Given the description of an element on the screen output the (x, y) to click on. 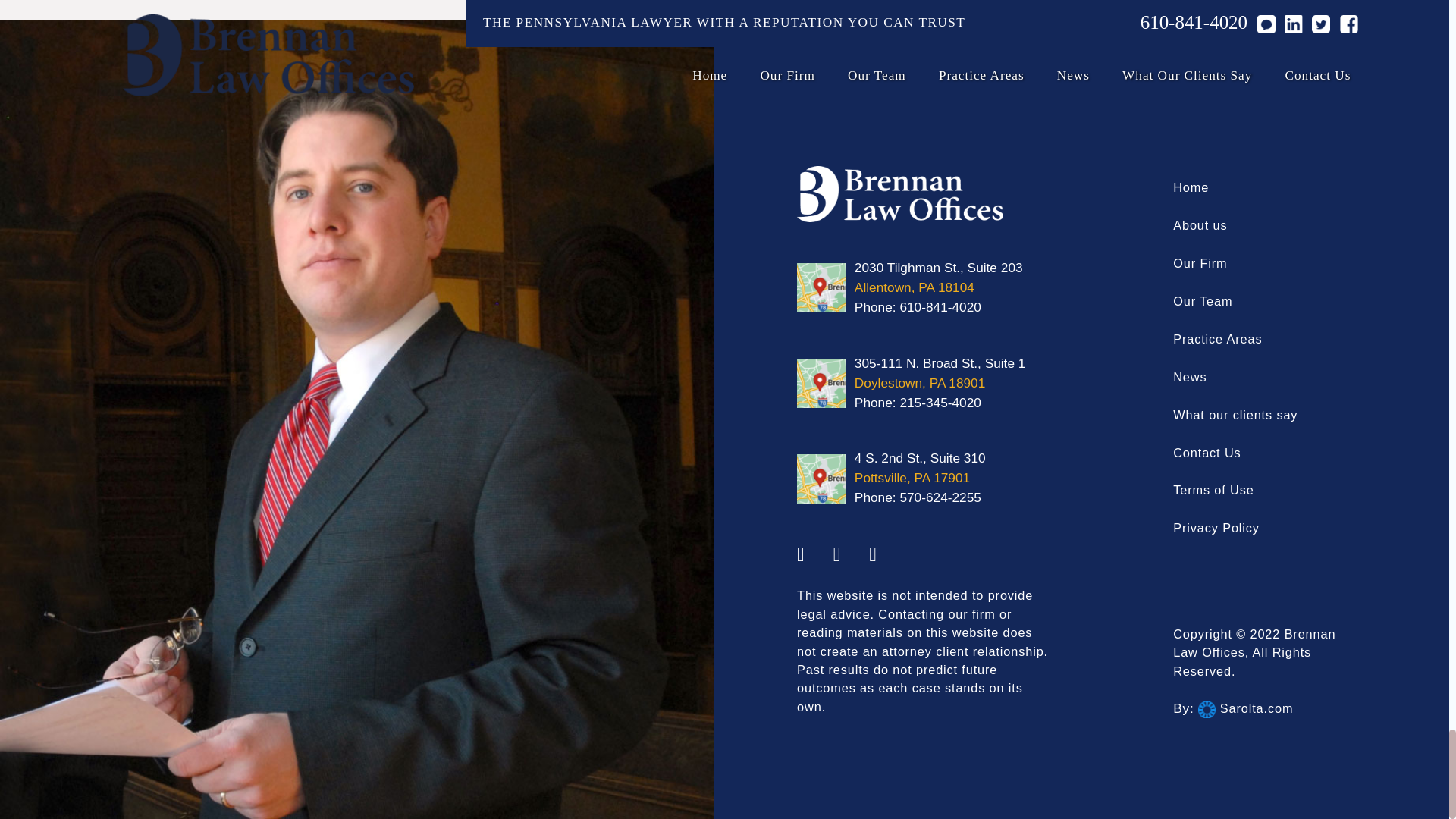
About us (1200, 224)
Our Team (1202, 300)
Our Firm (1200, 263)
News (1190, 377)
215-345-4020 (940, 402)
Contact Us (1206, 451)
Practice Areas (1217, 338)
What our clients say (1235, 414)
610-841-4020 (940, 306)
Home (1190, 187)
